Given the description of an element on the screen output the (x, y) to click on. 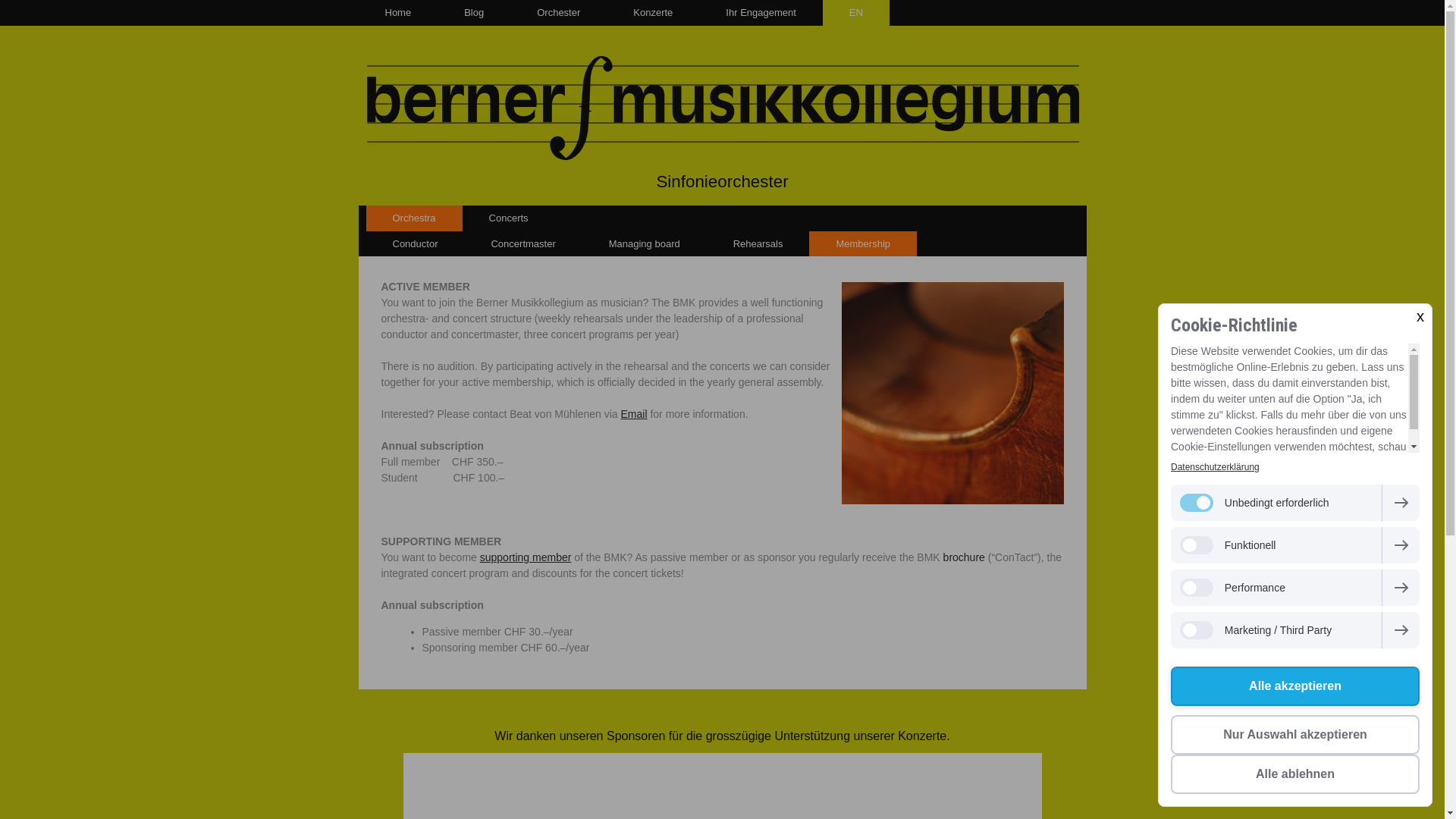
Sinfonieorchester Element type: text (722, 181)
Concertmaster Element type: text (522, 244)
EN Element type: text (855, 12)
Ihr Engagement Element type: text (760, 12)
Konzerte Element type: text (652, 12)
Home Element type: text (397, 12)
supporting member Element type: text (525, 557)
brochure Element type: text (964, 557)
Rehearsals Element type: text (757, 244)
Alle ablehnen Element type: text (1294, 773)
Conductor Element type: text (414, 244)
Blog Element type: text (473, 12)
Concerts Element type: text (508, 218)
Email Element type: text (633, 413)
Nur Auswahl akzeptieren Element type: text (1294, 734)
Orchester Element type: text (558, 12)
Orchestra Element type: text (413, 218)
Alle akzeptieren Element type: text (1294, 686)
Membership Element type: text (862, 244)
Managing board Element type: text (644, 244)
